Given the description of an element on the screen output the (x, y) to click on. 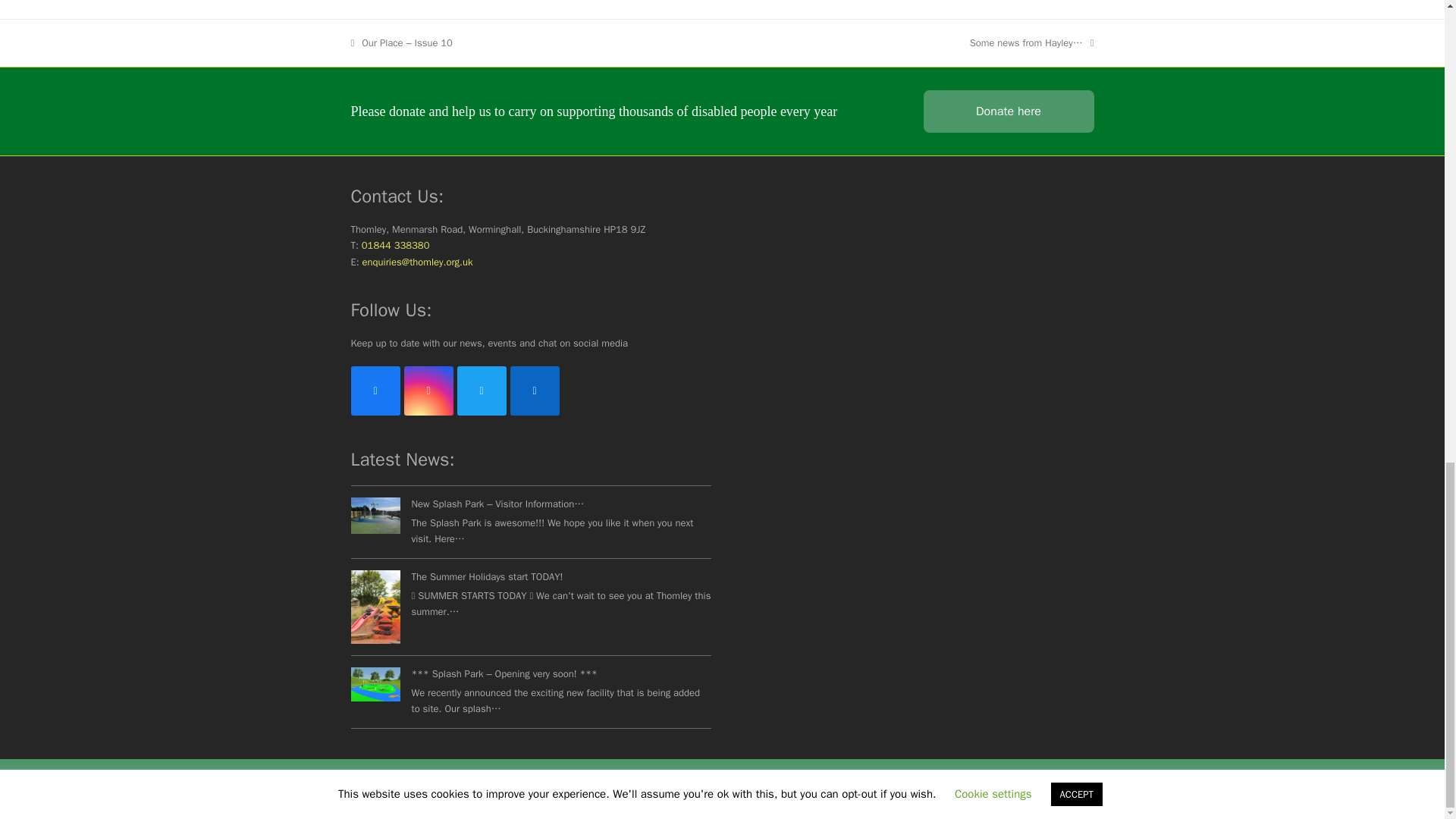
Instagram (427, 390)
Twitter (481, 390)
01844 338380 (395, 245)
Facebook (374, 390)
Donate here (1008, 111)
LinkedIn (534, 390)
